Given the description of an element on the screen output the (x, y) to click on. 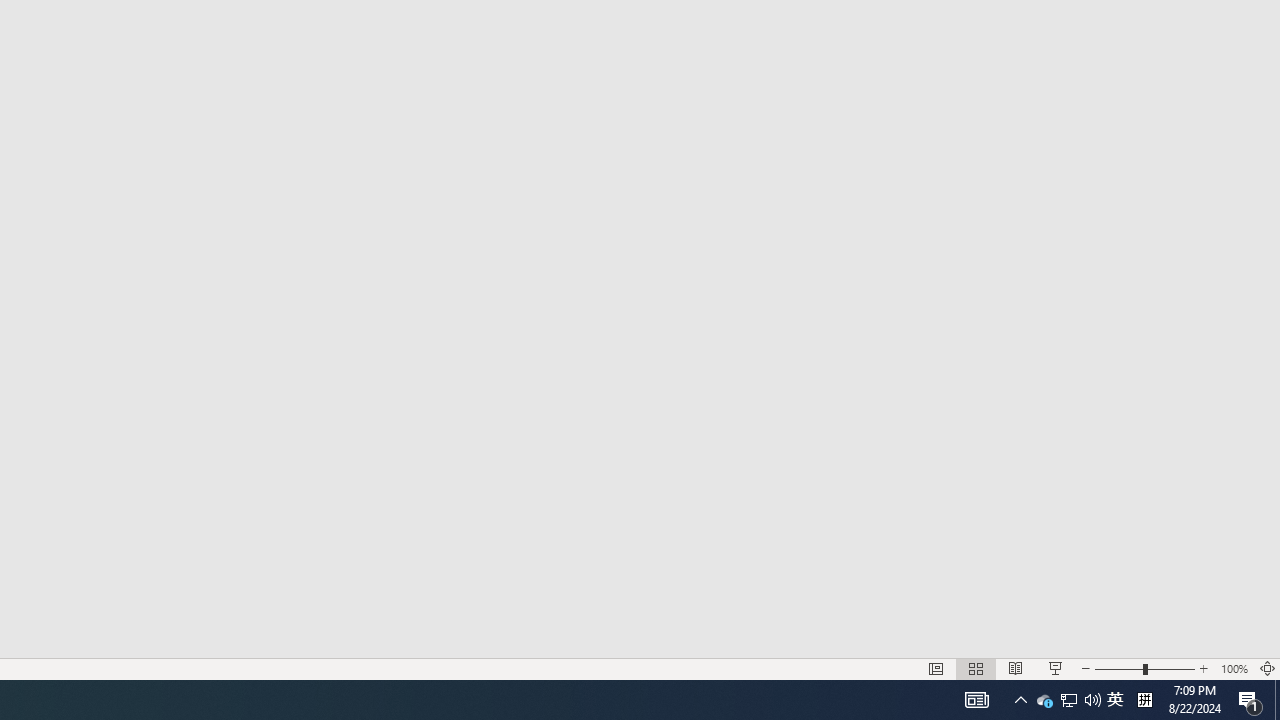
Zoom 100% (1234, 668)
